Given the description of an element on the screen output the (x, y) to click on. 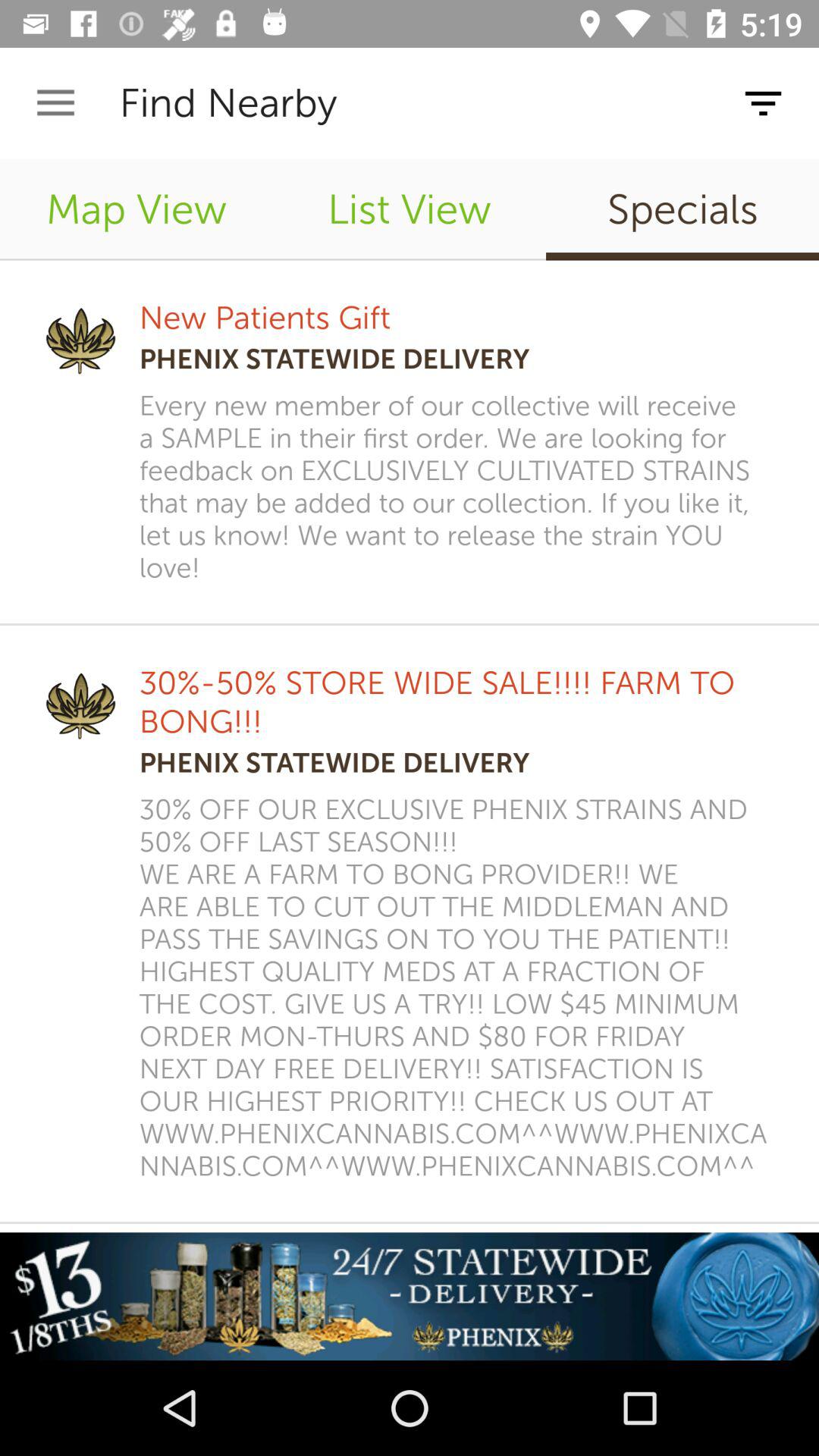
turn off the app to the left of the find nearby (55, 103)
